Given the description of an element on the screen output the (x, y) to click on. 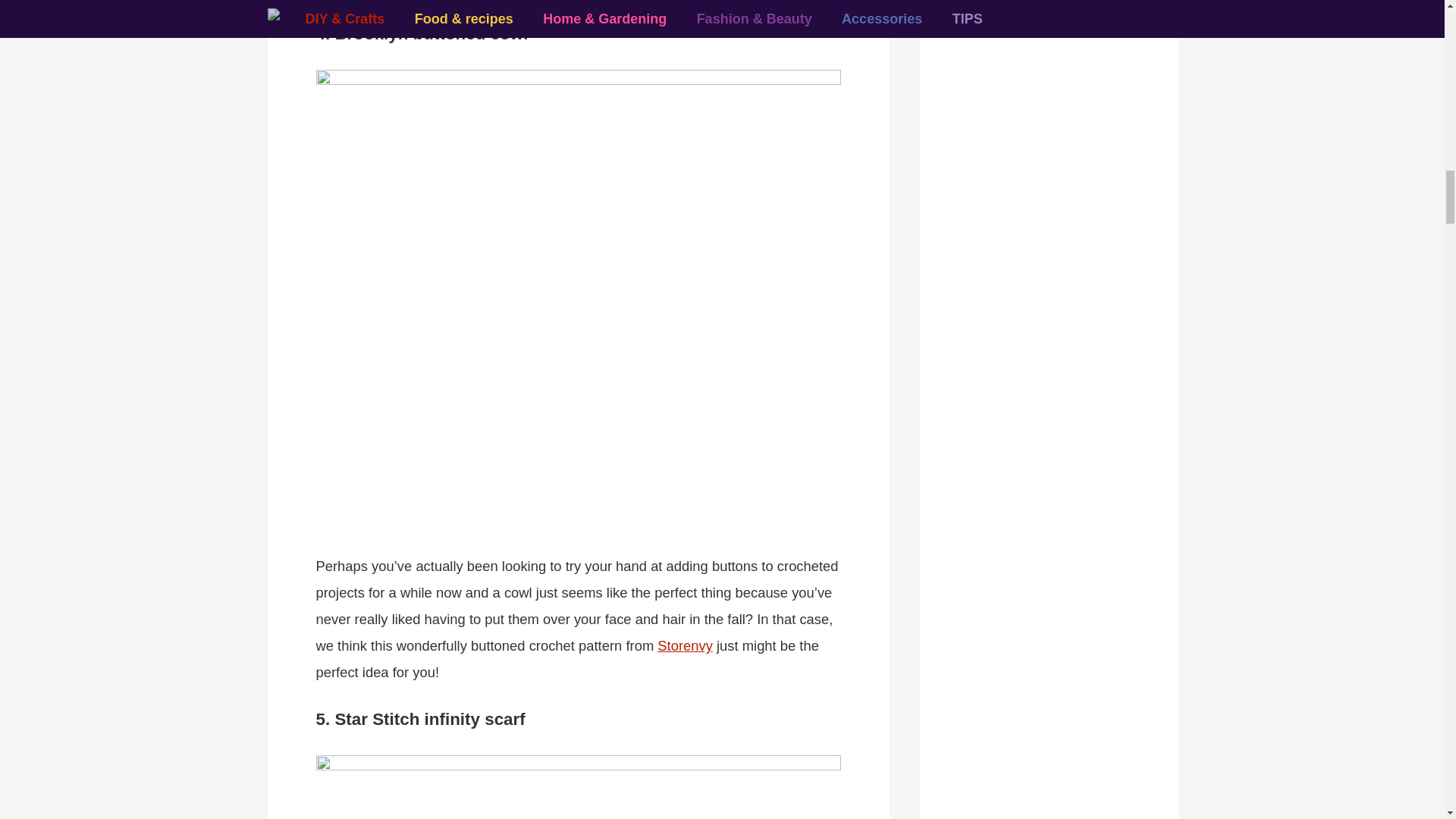
Storenvy (685, 645)
